Given the description of an element on the screen output the (x, y) to click on. 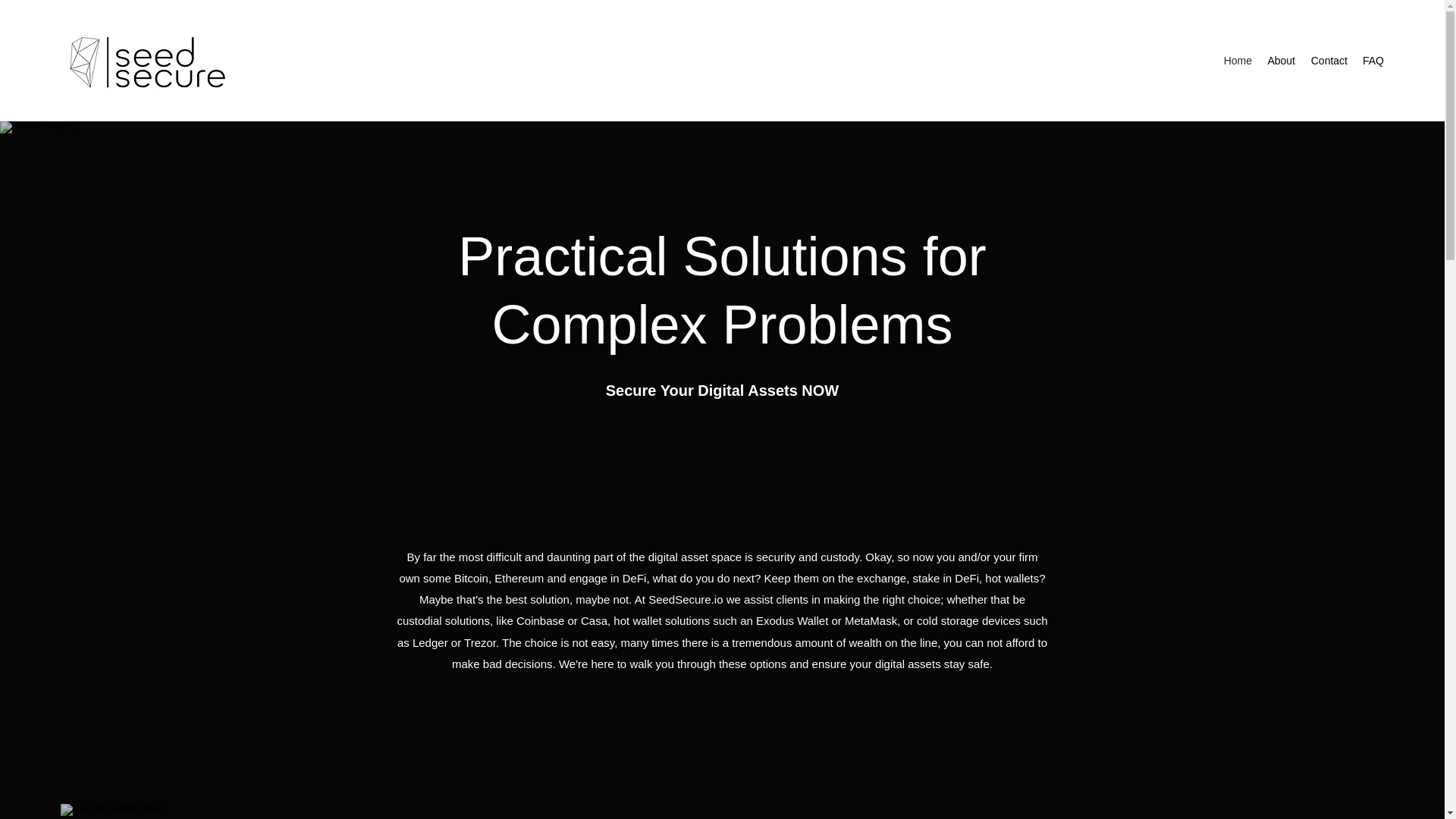
Home (1237, 60)
Contact (1329, 60)
About (1281, 60)
FAQ (1373, 60)
